Given the description of an element on the screen output the (x, y) to click on. 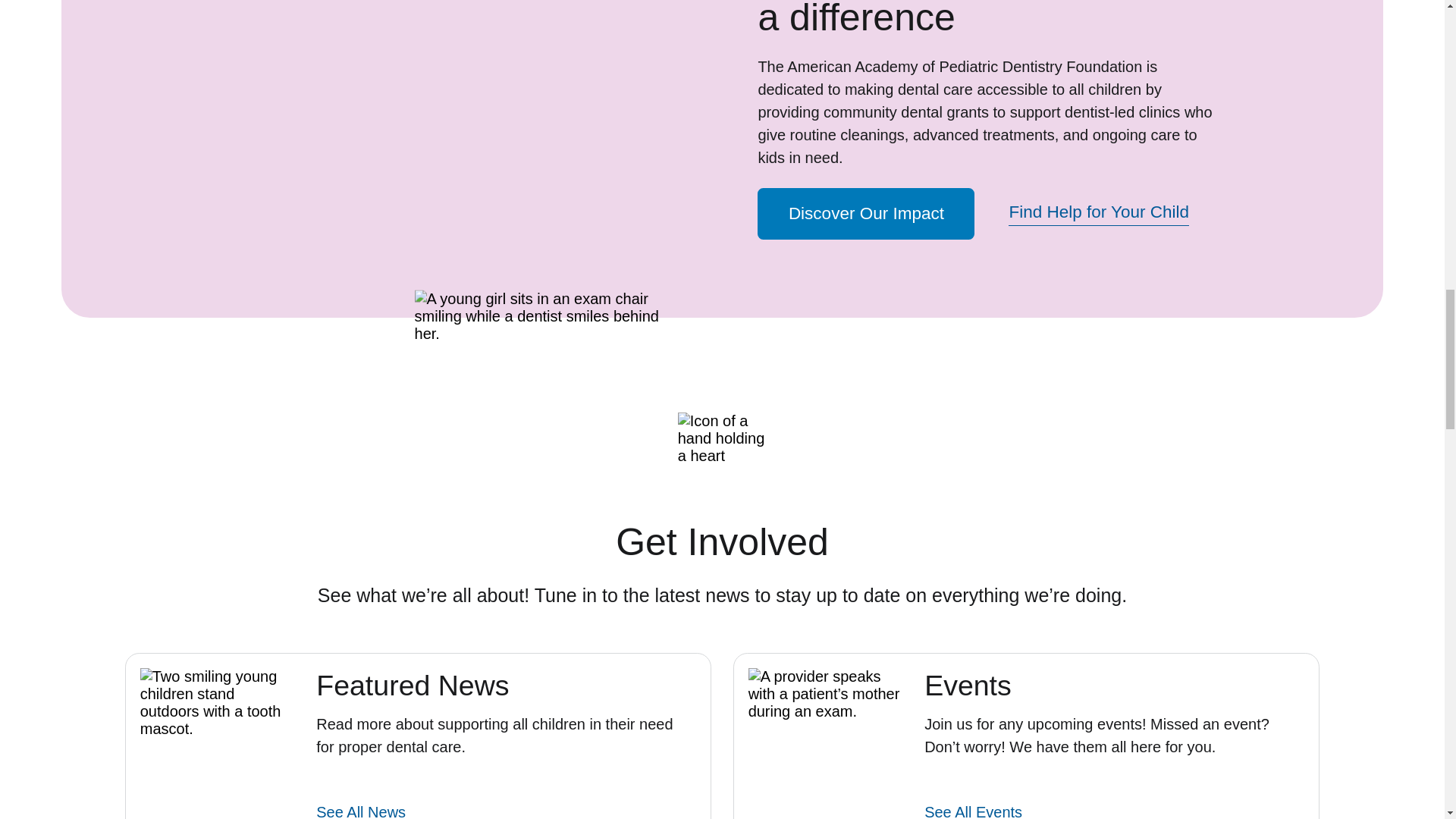
Find Help for Your Child (1099, 213)
Discover Our Impact (865, 213)
See All News (360, 811)
See All Events (973, 811)
